Given the description of an element on the screen output the (x, y) to click on. 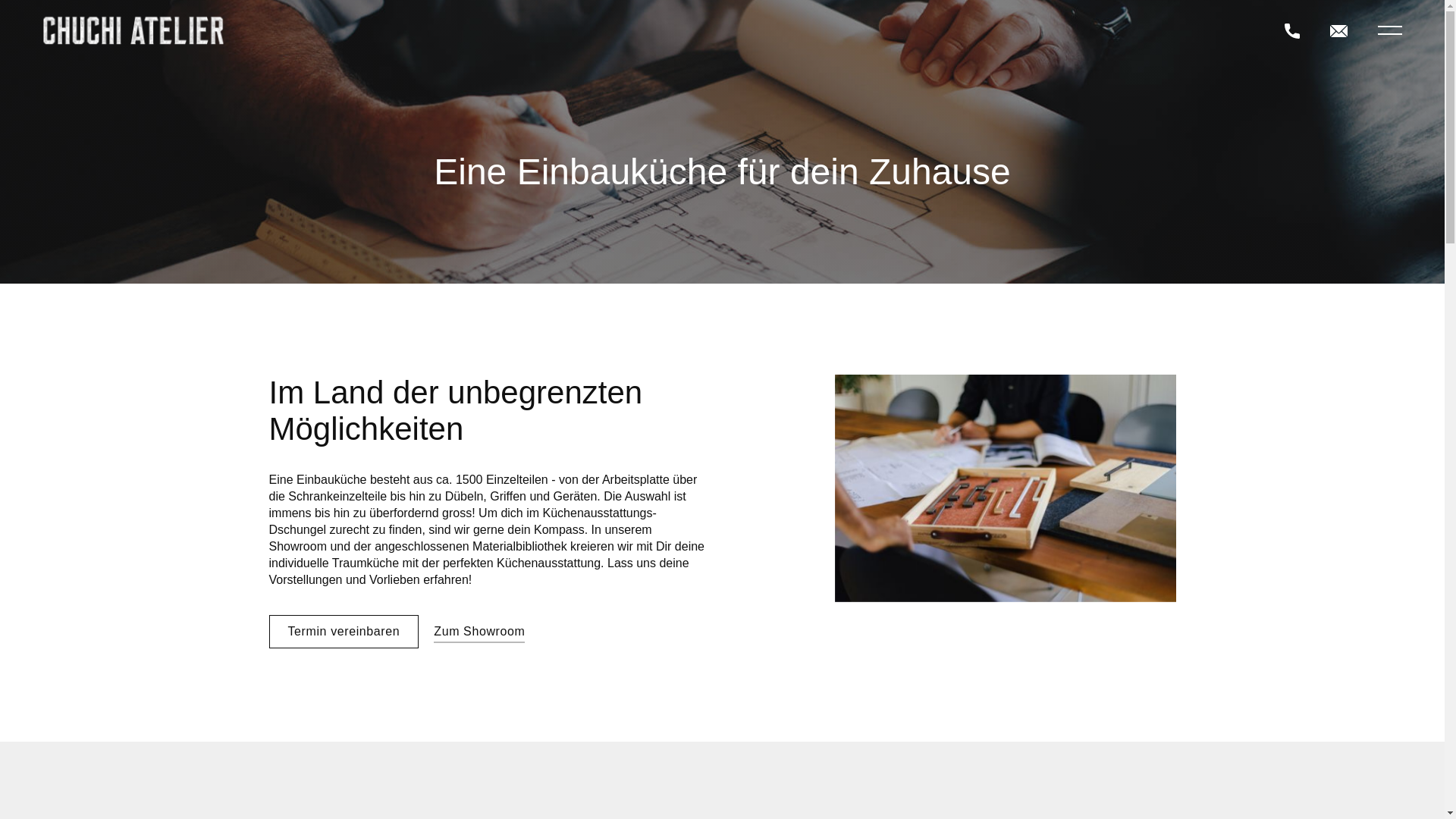
Zum Showroom Element type: text (478, 632)
Termin vereinbaren Element type: text (343, 631)
